Given the description of an element on the screen output the (x, y) to click on. 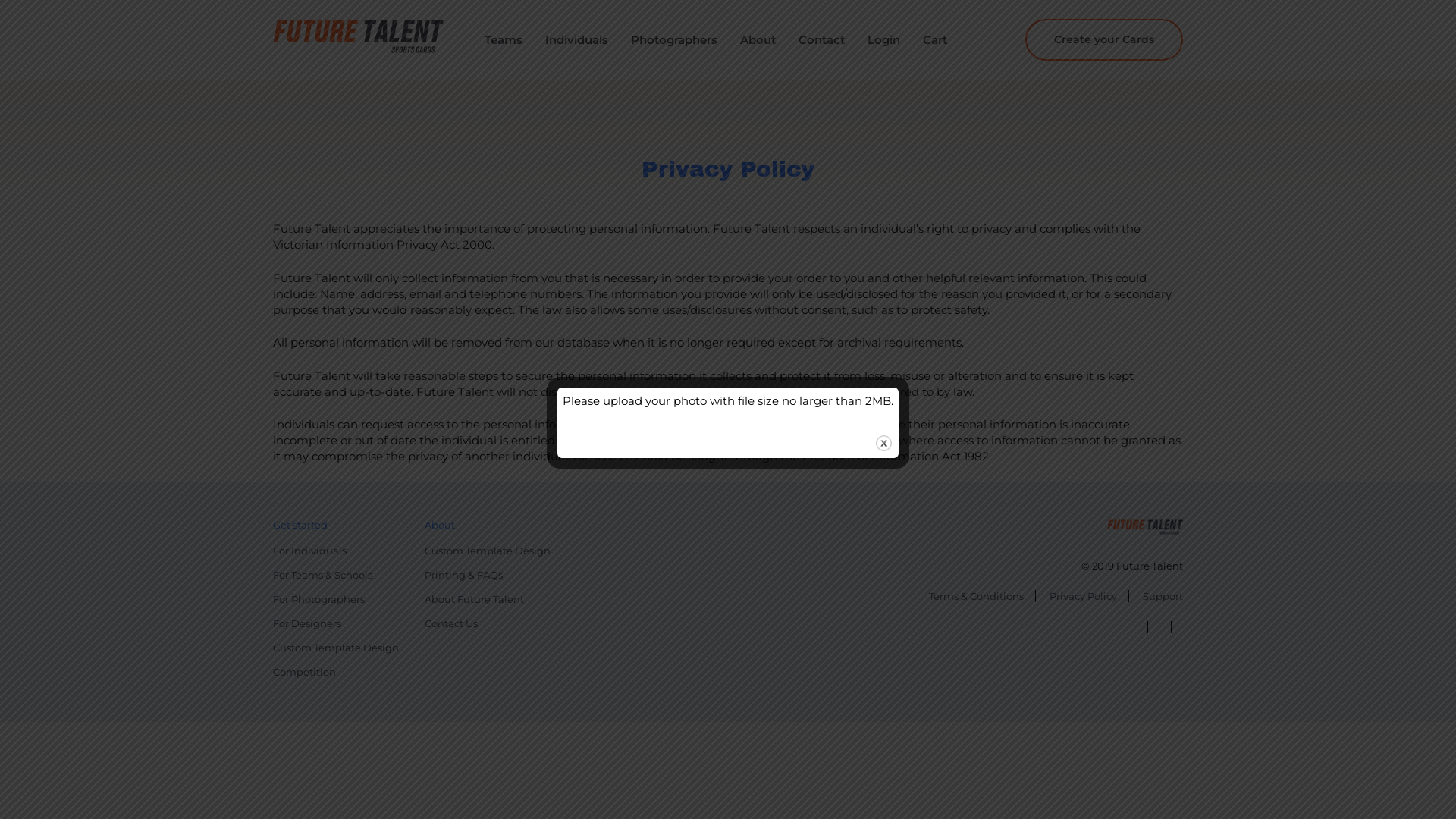
Contact Element type: text (821, 37)
For Designers Element type: text (340, 623)
Login Element type: text (883, 37)
For Teams & Schools Element type: text (340, 574)
Privacy Policy Element type: text (1083, 595)
Printing & FAQs Element type: text (491, 574)
About Element type: text (757, 37)
For Individuals Element type: text (340, 550)
Custom Template Design Element type: text (491, 550)
About Future Talent Element type: text (491, 598)
Individuals Element type: text (576, 37)
Contact Us Element type: text (491, 623)
Support Element type: text (1157, 595)
Create your Cards Element type: text (1104, 39)
Terms & Conditions Element type: text (976, 595)
Close Element type: hover (883, 443)
Cart Element type: text (934, 37)
Custom Template Design Element type: text (340, 647)
Competition Element type: text (340, 671)
For Photographers Element type: text (340, 598)
Teams Element type: text (503, 37)
Photographers Element type: text (673, 37)
